Given the description of an element on the screen output the (x, y) to click on. 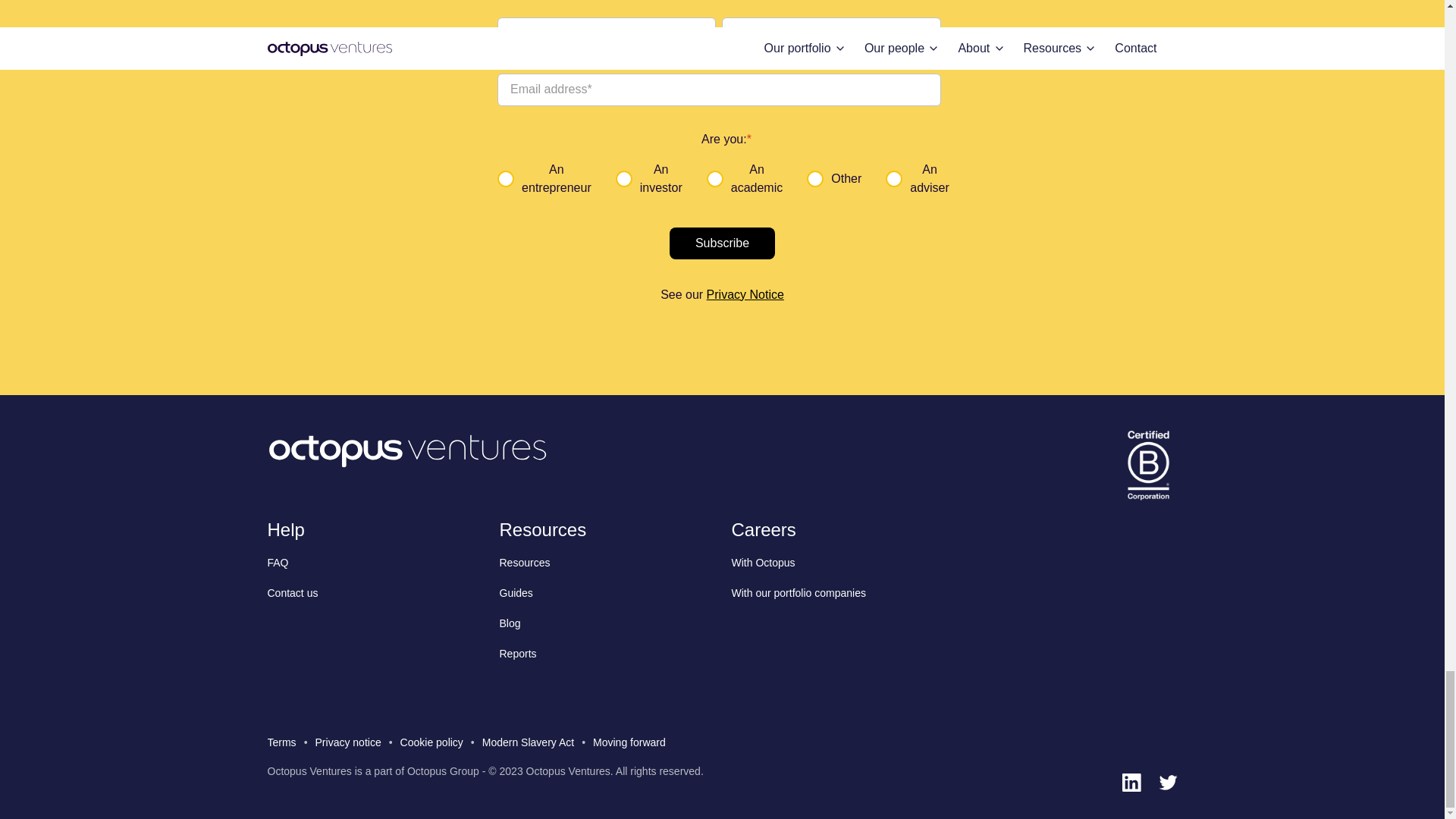
Subscribe (721, 243)
